Given the description of an element on the screen output the (x, y) to click on. 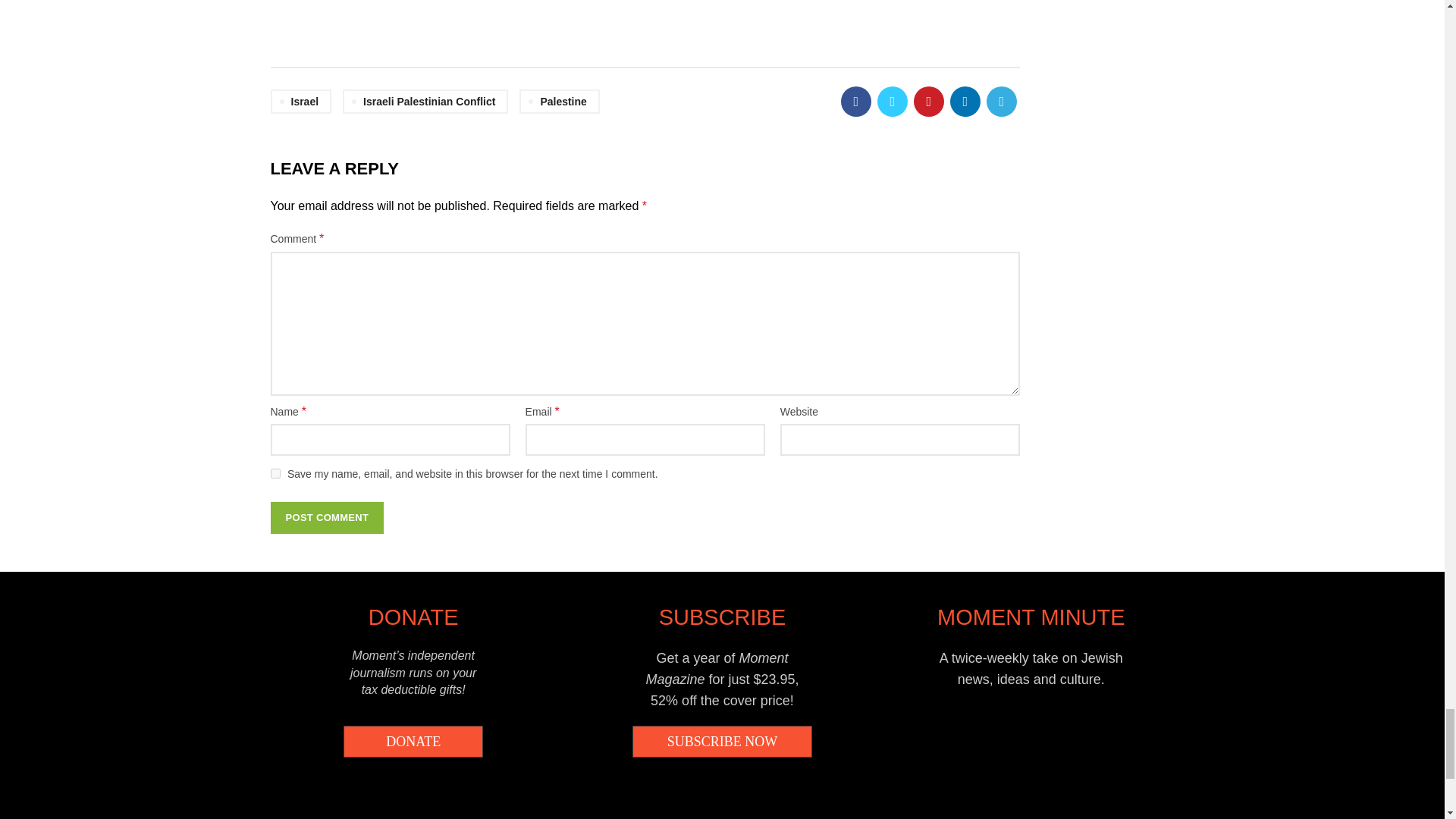
yes (274, 473)
Post Comment (326, 517)
